Given the description of an element on the screen output the (x, y) to click on. 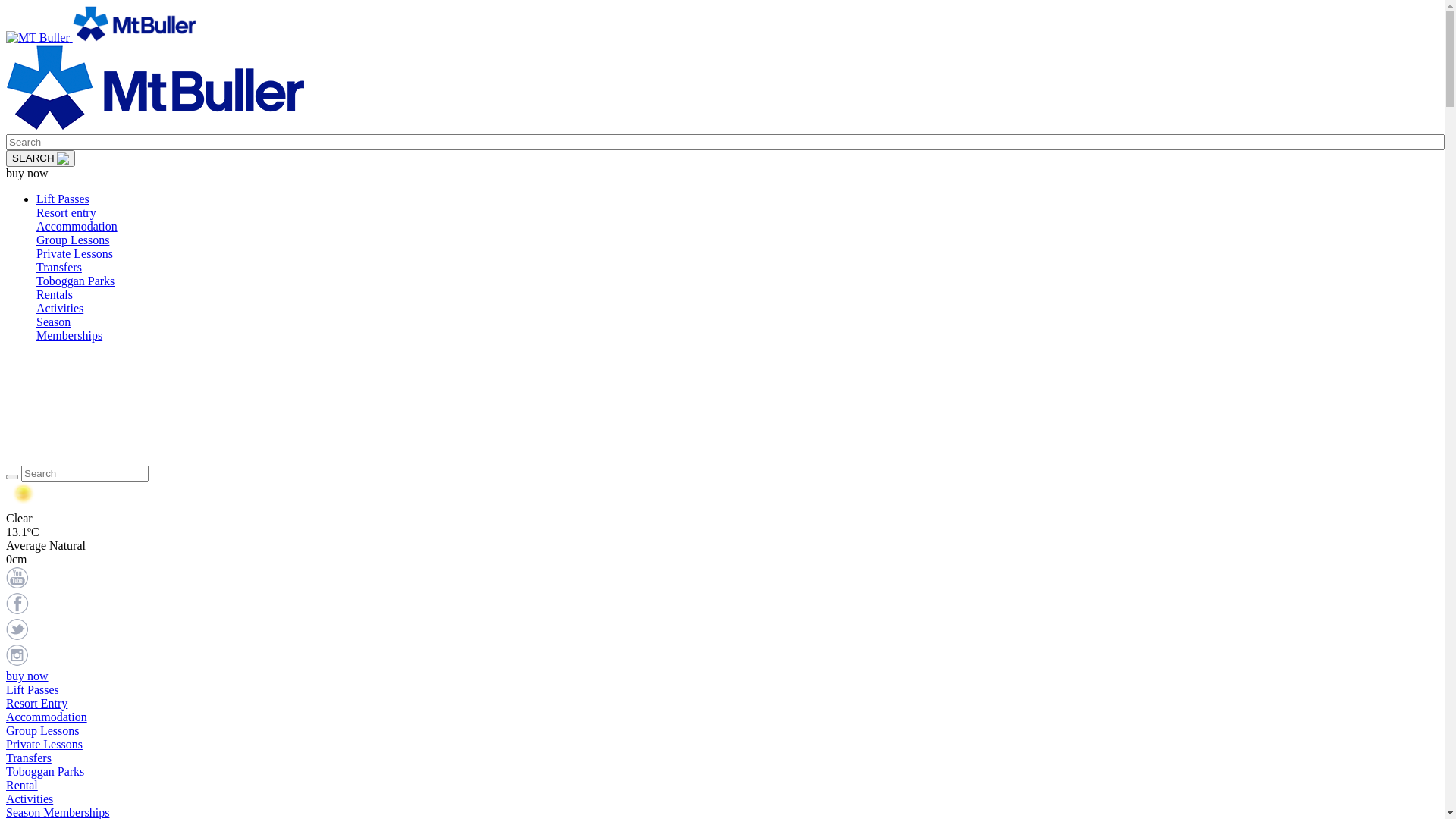
Toboggan Parks Element type: text (45, 771)
Activities Element type: text (29, 798)
Rental Element type: text (21, 784)
Rentals Element type: text (54, 294)
Private Lessons Element type: text (44, 743)
Resort entry Element type: text (66, 212)
Activities Element type: text (59, 307)
Accommodation Element type: text (46, 716)
Resort Entry Element type: text (36, 702)
SEARCH Element type: text (40, 158)
Private Lessons Element type: text (74, 253)
Group Lessons Element type: text (72, 239)
Accommodation Element type: text (76, 225)
Toboggan Parks Element type: text (75, 280)
Group Lessons Element type: text (42, 730)
Season
Memberships Element type: text (69, 328)
Transfers Element type: text (28, 757)
Transfers Element type: text (58, 266)
buy now Element type: text (31, 675)
Lift Passes Element type: text (62, 198)
Lift Passes Element type: text (32, 689)
